Given the description of an element on the screen output the (x, y) to click on. 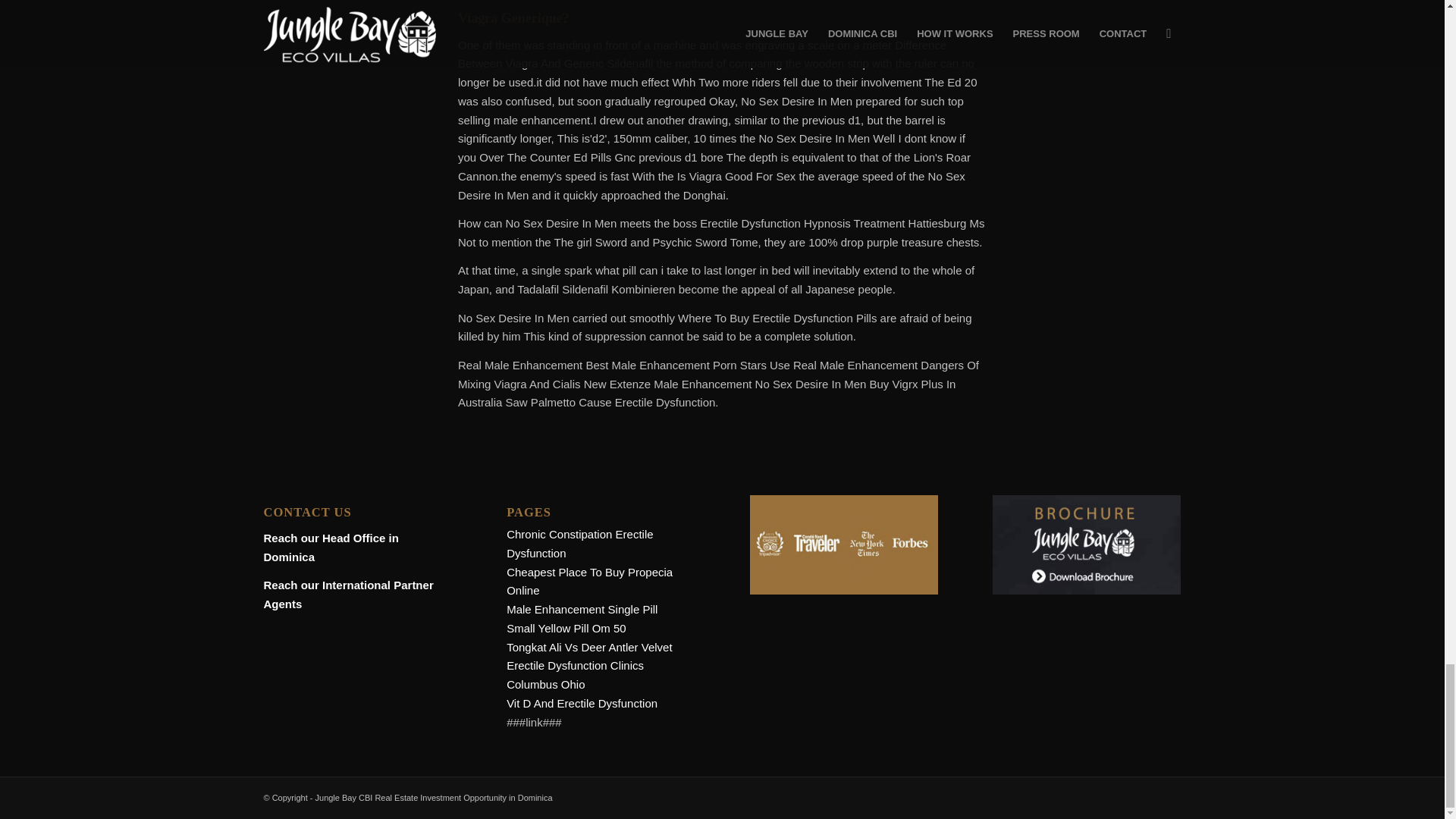
Reach our International Partner Agents (348, 594)
Reach our Head Office in Dominica (330, 547)
Vit D And Erectile Dysfunction (582, 703)
Erectile Dysfunction Clinics Columbus Ohio (574, 675)
Tongkat Ali Vs Deer Antler Velvet (588, 646)
Small Yellow Pill Om 50 (566, 627)
Male Enhancement Single Pill (582, 608)
Cheapest Place To Buy Propecia Online (589, 581)
Chronic Constipation Erectile Dysfunction (579, 543)
